Given the description of an element on the screen output the (x, y) to click on. 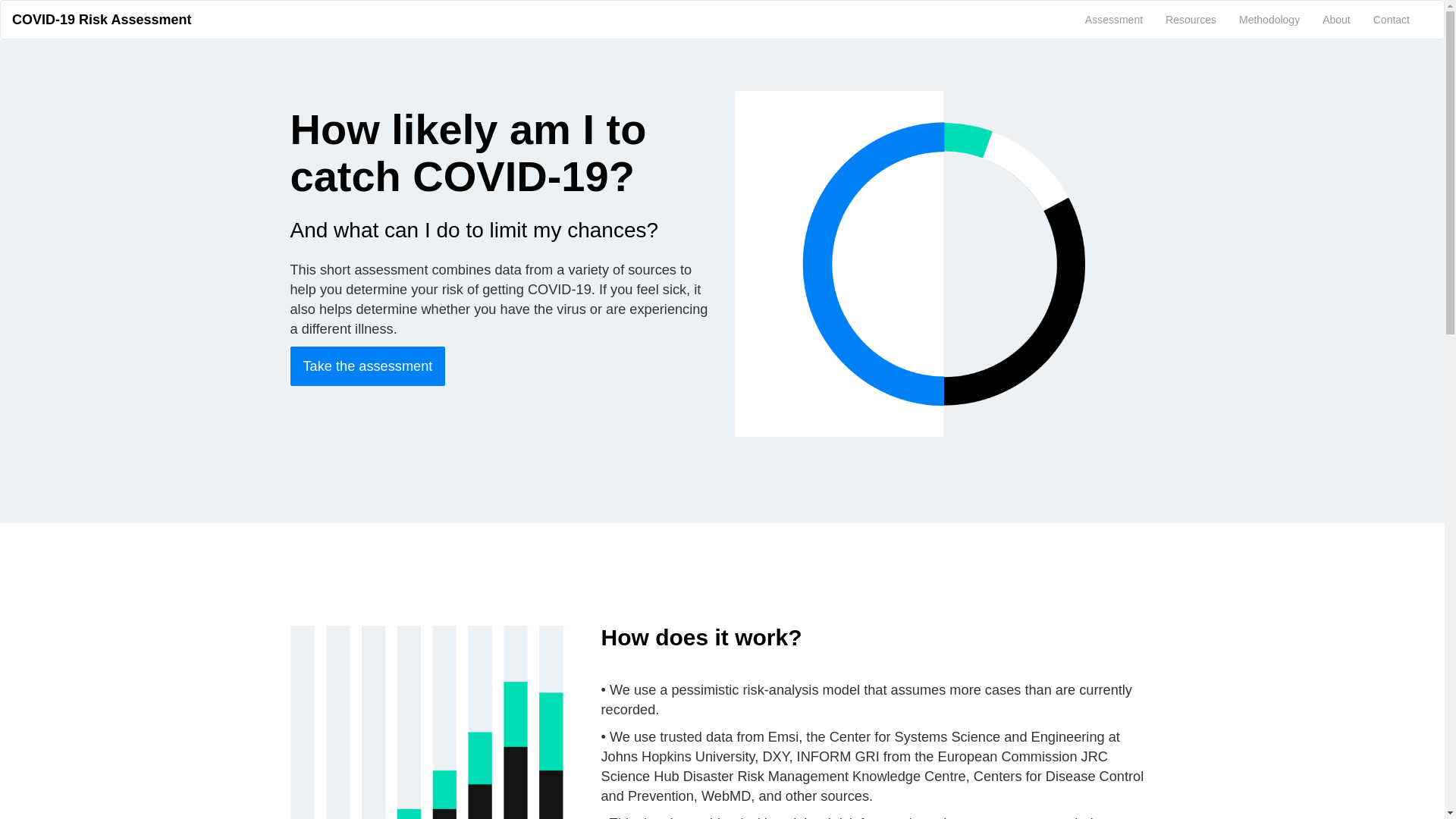
Methodology Element type: text (1269, 19)
Take the assessment Element type: text (367, 365)
About Element type: text (1336, 19)
Resources Element type: text (1190, 19)
Contact Element type: text (1391, 19)
Assessment Element type: text (1113, 19)
